Given the description of an element on the screen output the (x, y) to click on. 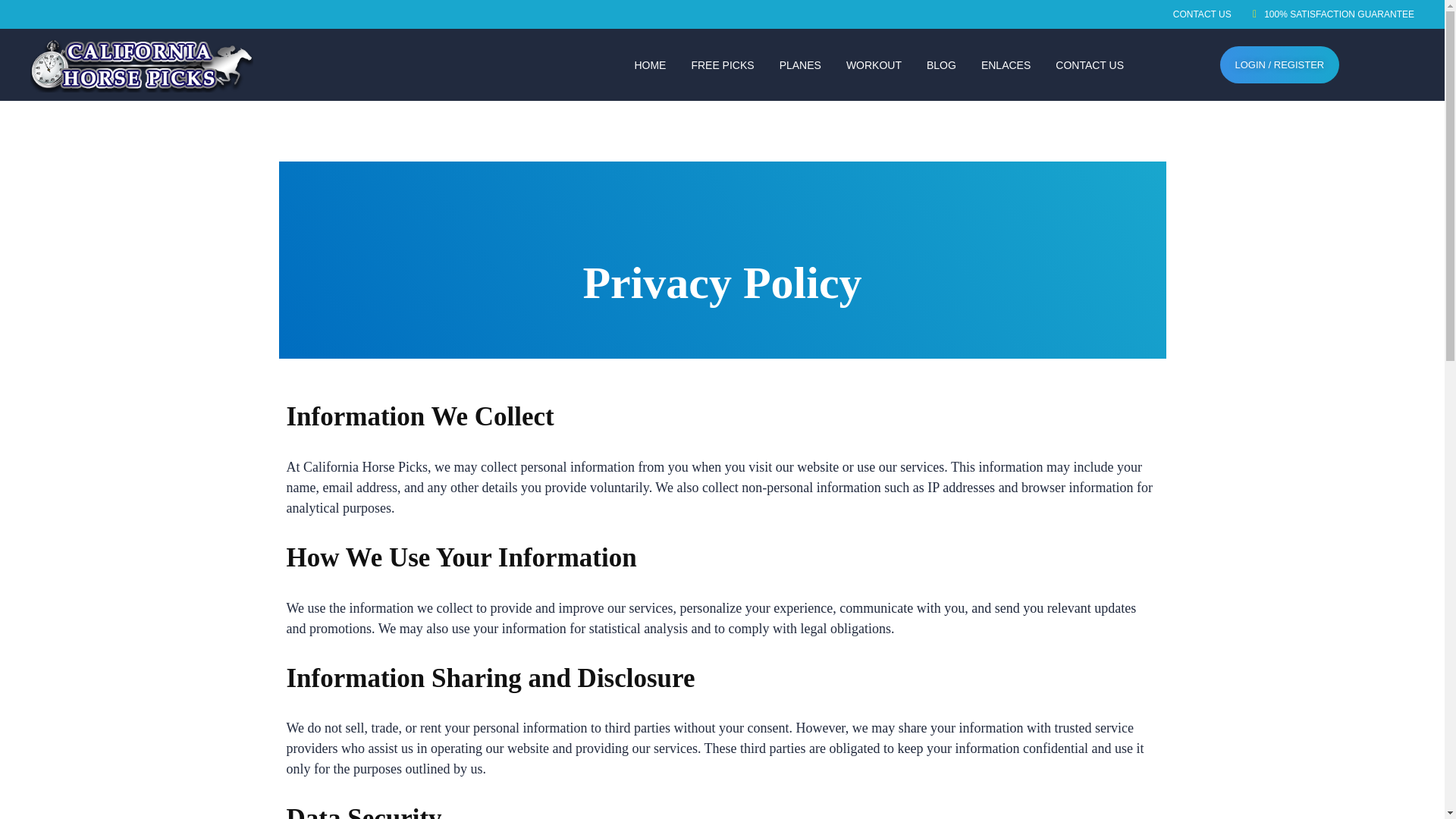
FREE PICKS (721, 64)
WORKOUT (873, 64)
CONTACT US (1089, 64)
HOME (650, 64)
CONTACT US (1202, 14)
PLANES (799, 64)
BLOG (940, 64)
ENLACES (1006, 64)
